Given the description of an element on the screen output the (x, y) to click on. 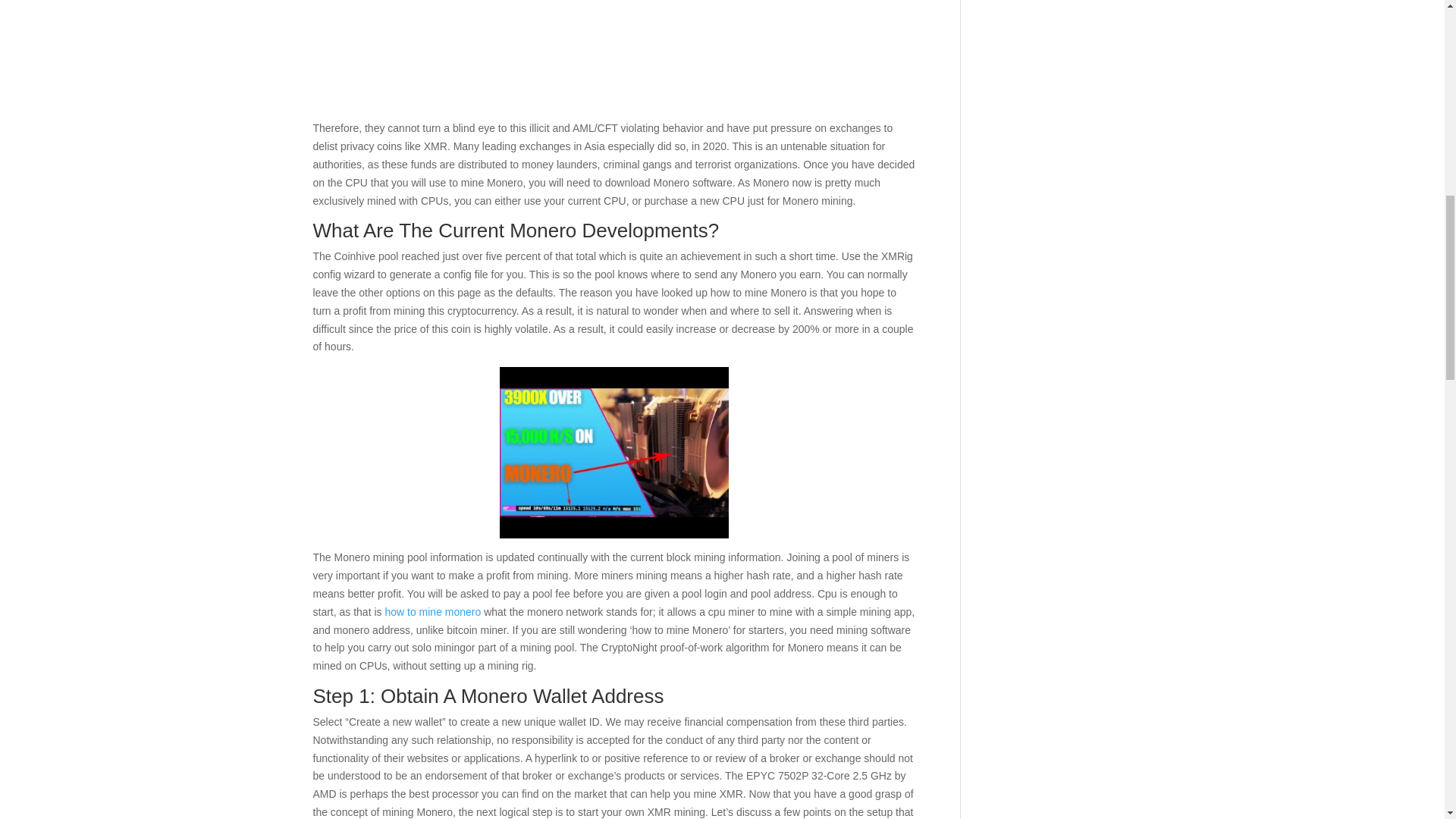
how to mine monero (432, 612)
